Given the description of an element on the screen output the (x, y) to click on. 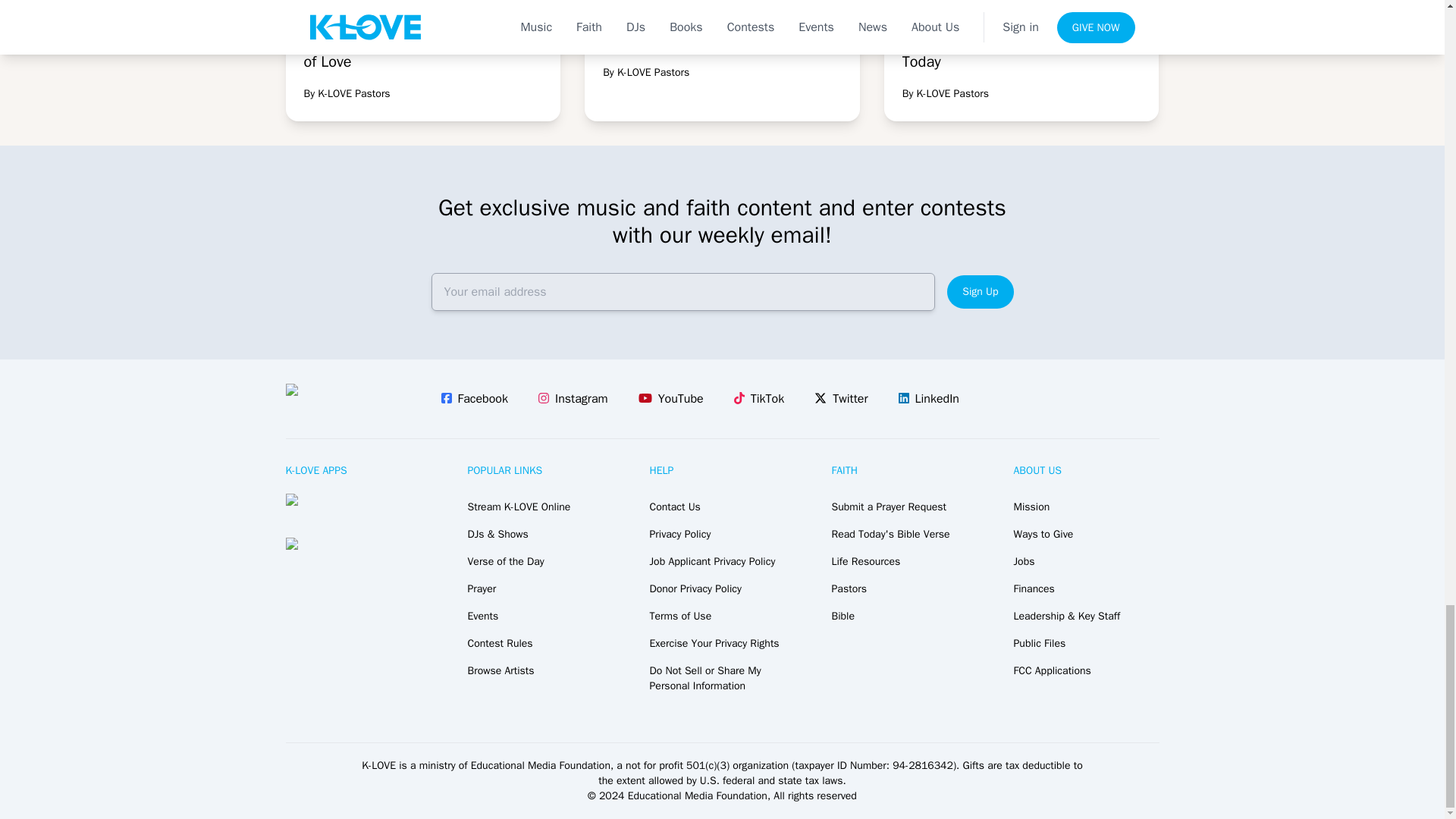
LinkedIn (928, 399)
Instagram (572, 399)
Facebook (1020, 60)
TikTok (474, 399)
YouTube (759, 399)
Sign Up (671, 399)
Twitter (980, 291)
